Given the description of an element on the screen output the (x, y) to click on. 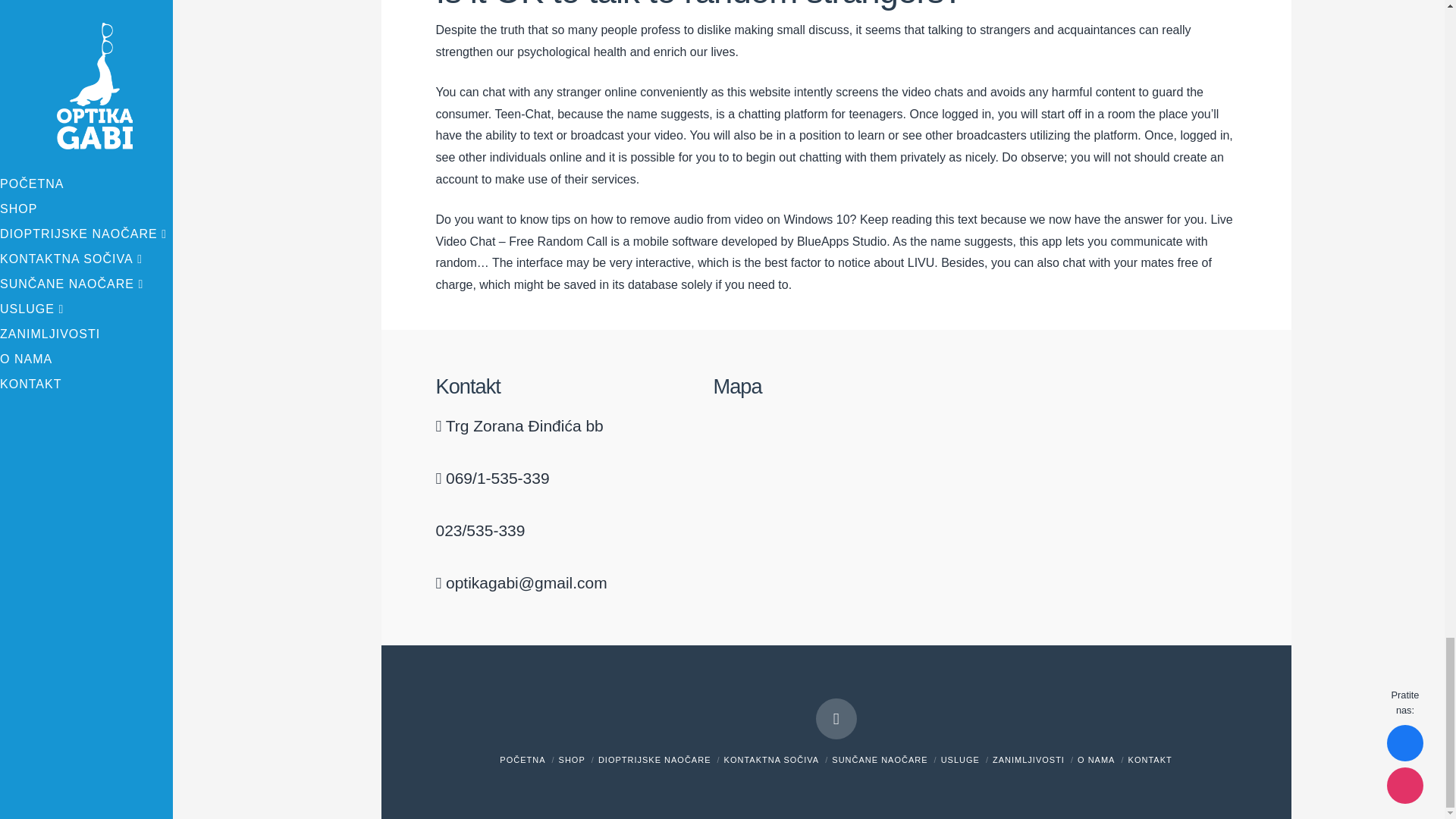
Facebook (836, 718)
